Given the description of an element on the screen output the (x, y) to click on. 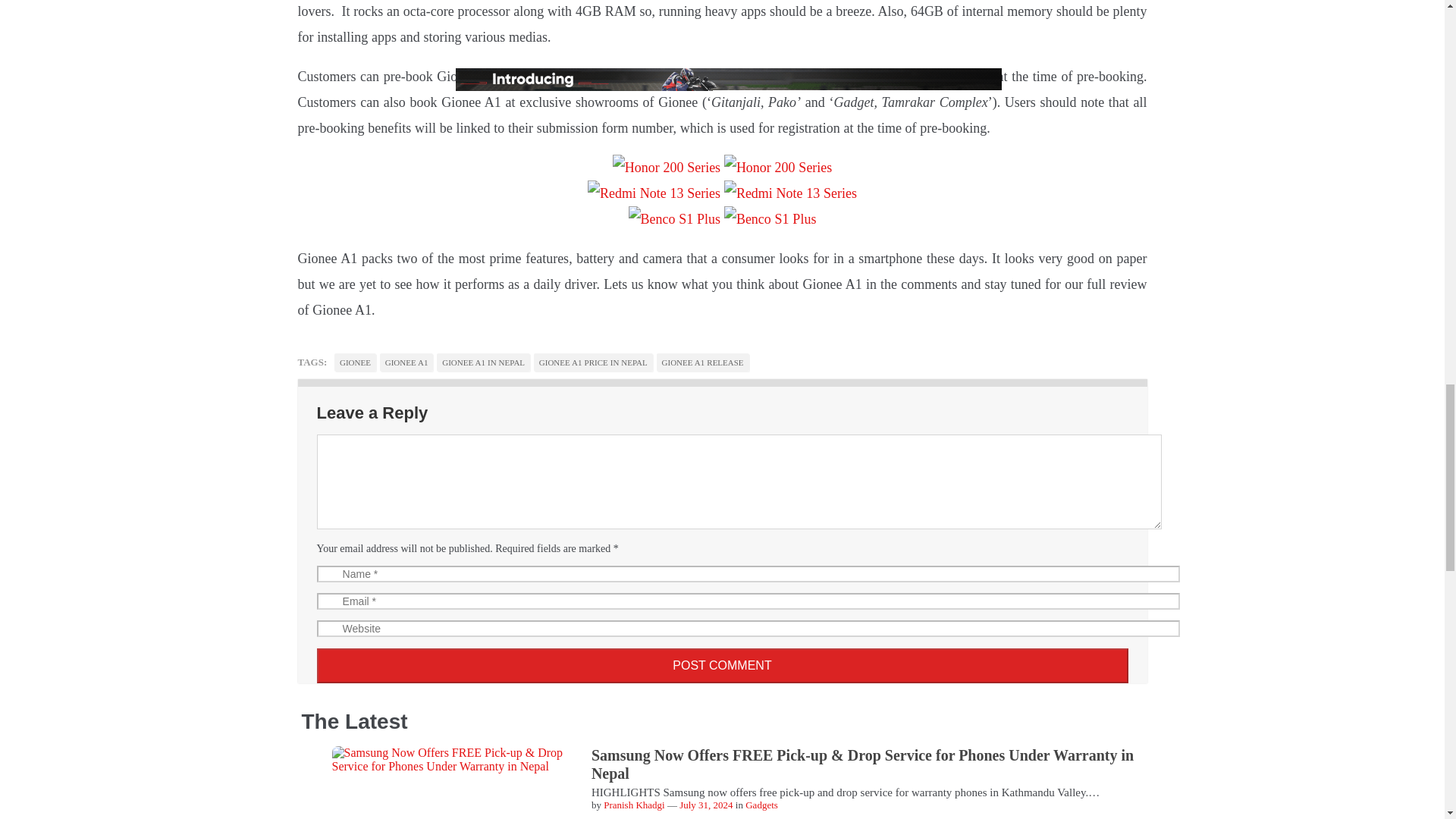
Honor 200 Series (777, 167)
Redmi Note 13 Series (654, 193)
Post Comment (722, 665)
Honor 200 Series (666, 167)
